Given the description of an element on the screen output the (x, y) to click on. 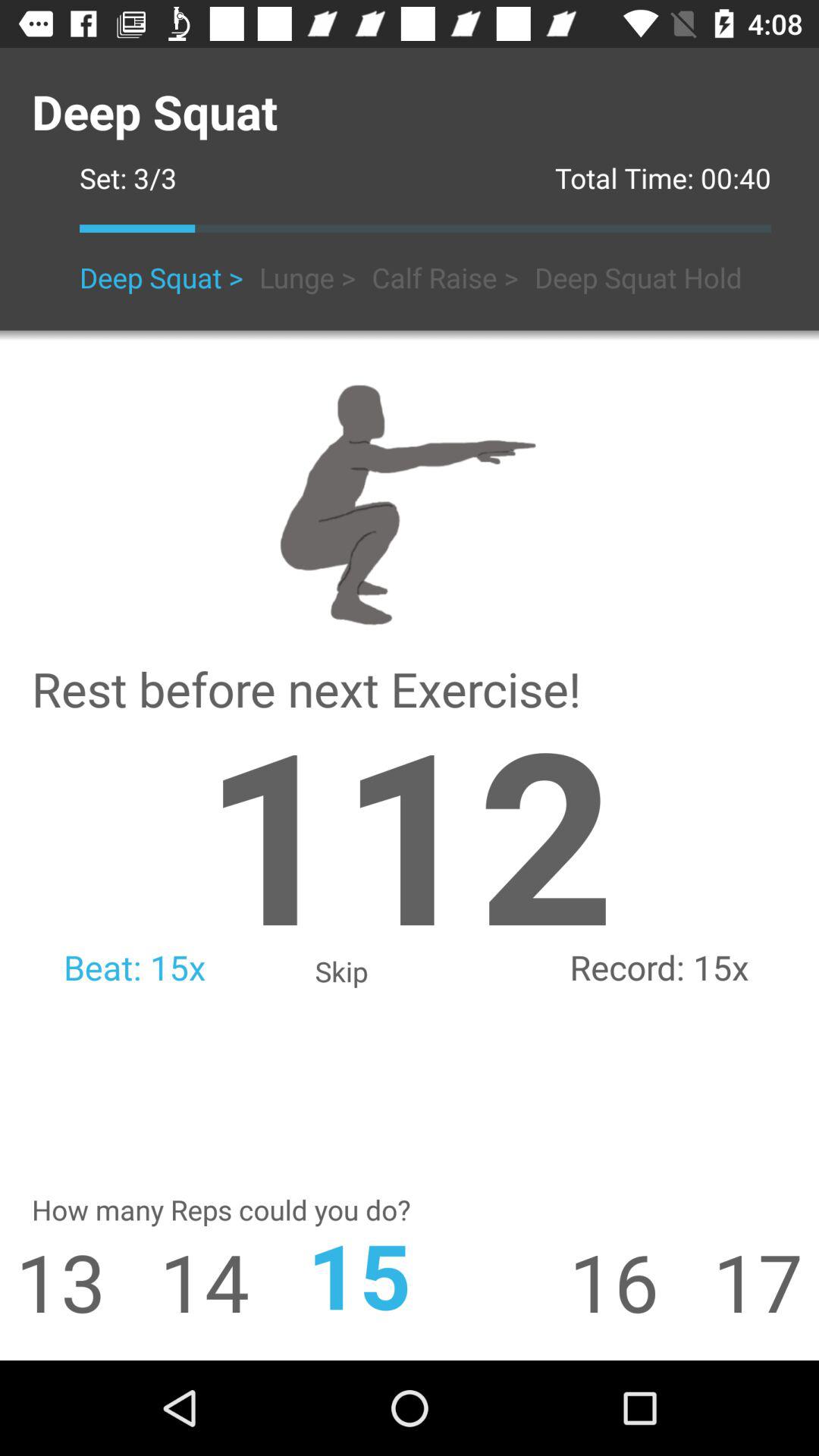
select the first image on the web page (409, 501)
